Given the description of an element on the screen output the (x, y) to click on. 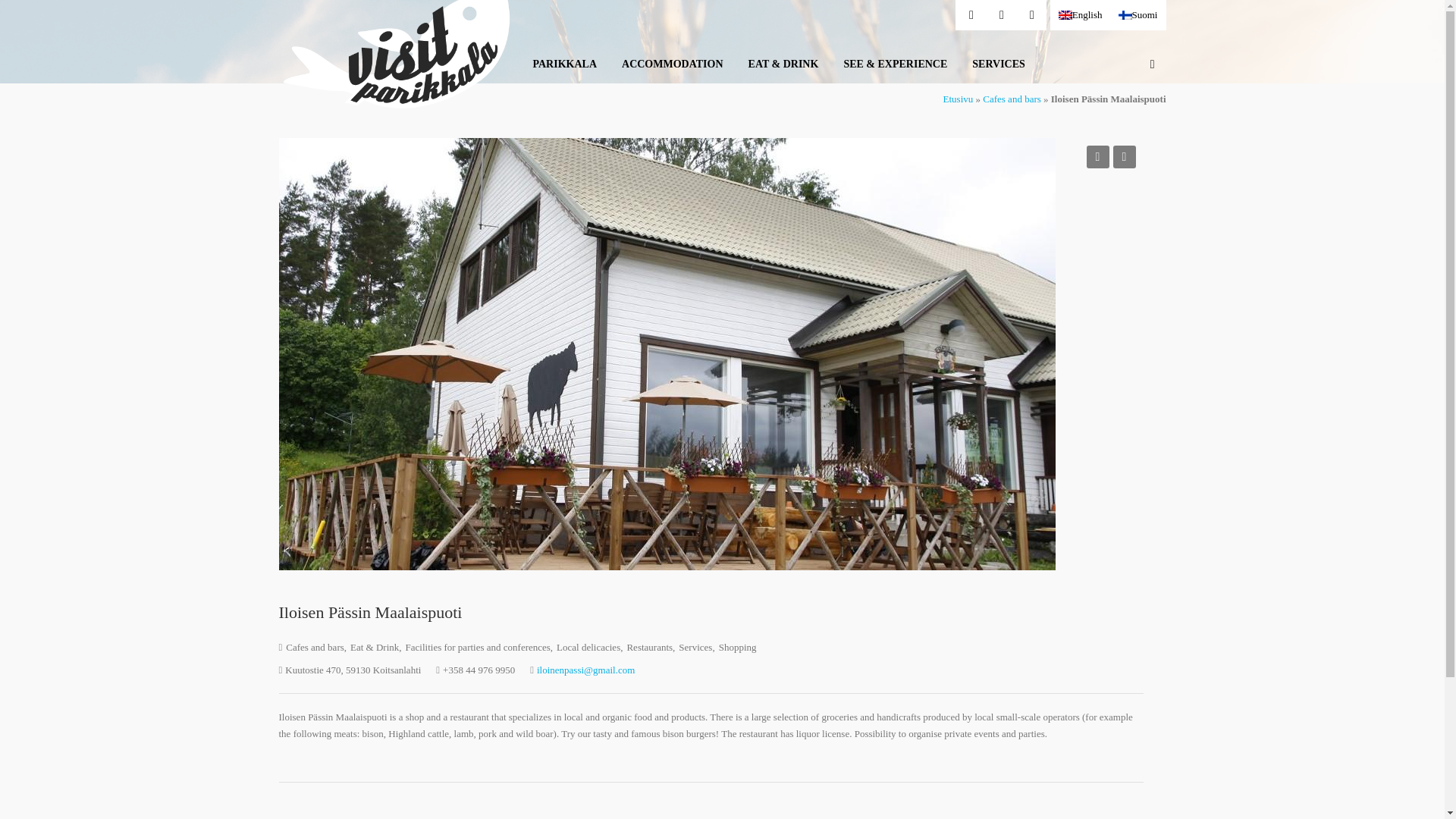
twitter (1000, 15)
Suomi (1137, 15)
visitParikkala.com (396, 56)
English (1079, 15)
instagram (1031, 15)
facebook (970, 15)
